Given the description of an element on the screen output the (x, y) to click on. 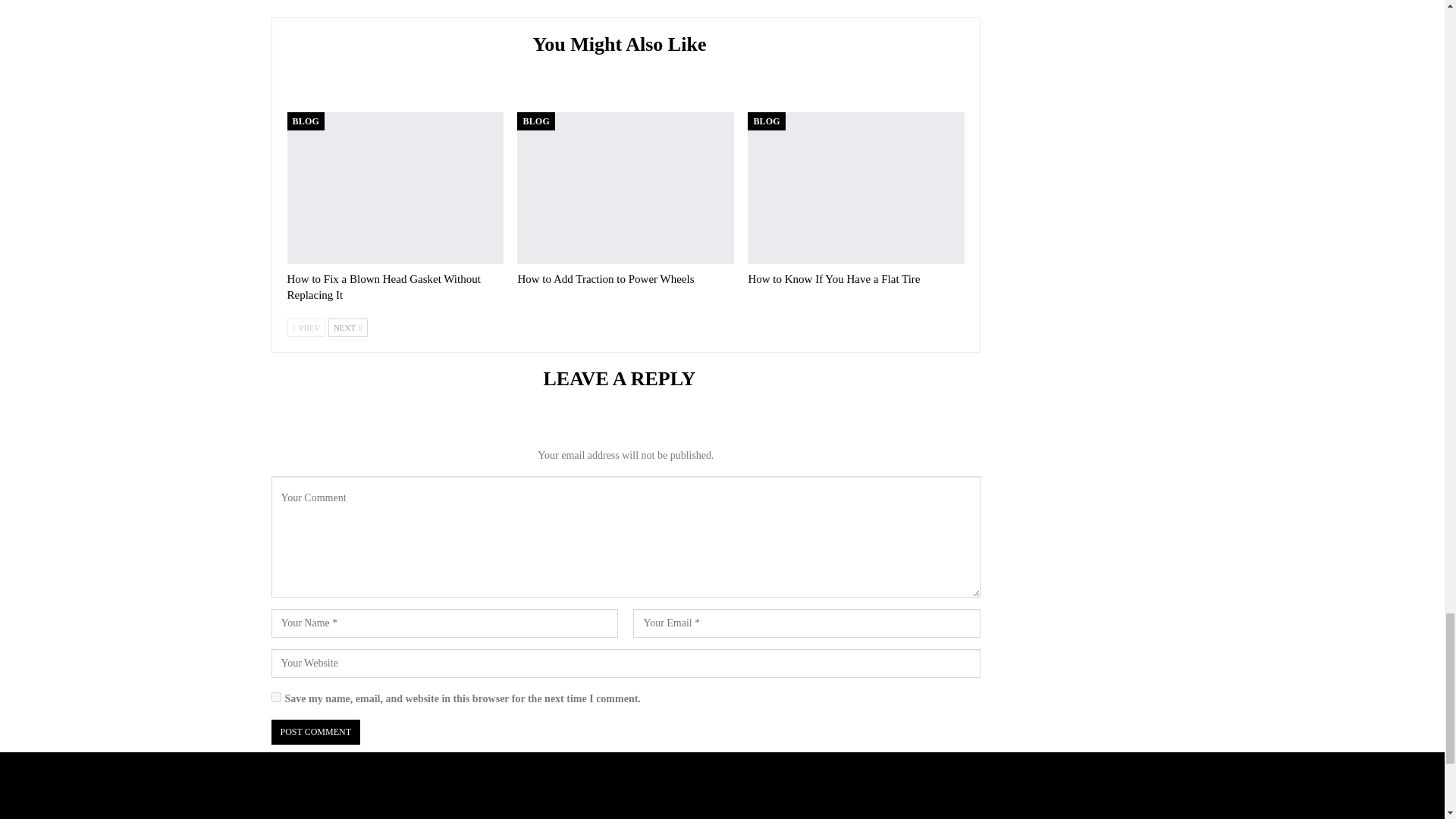
How to Fix a Blown Head Gasket Without Replacing It (394, 187)
How to Know If You Have a Flat Tire (855, 187)
How to Fix a Blown Head Gasket Without Replacing It (383, 286)
BLOG (535, 121)
How to Fix a Blown Head Gasket Without Replacing It (383, 286)
How to Add Traction to Power Wheels (624, 187)
How to Know If You Have a Flat Tire (834, 278)
How to Add Traction to Power Wheels (605, 278)
BLOG (304, 121)
You Might Also Like (625, 46)
